Given the description of an element on the screen output the (x, y) to click on. 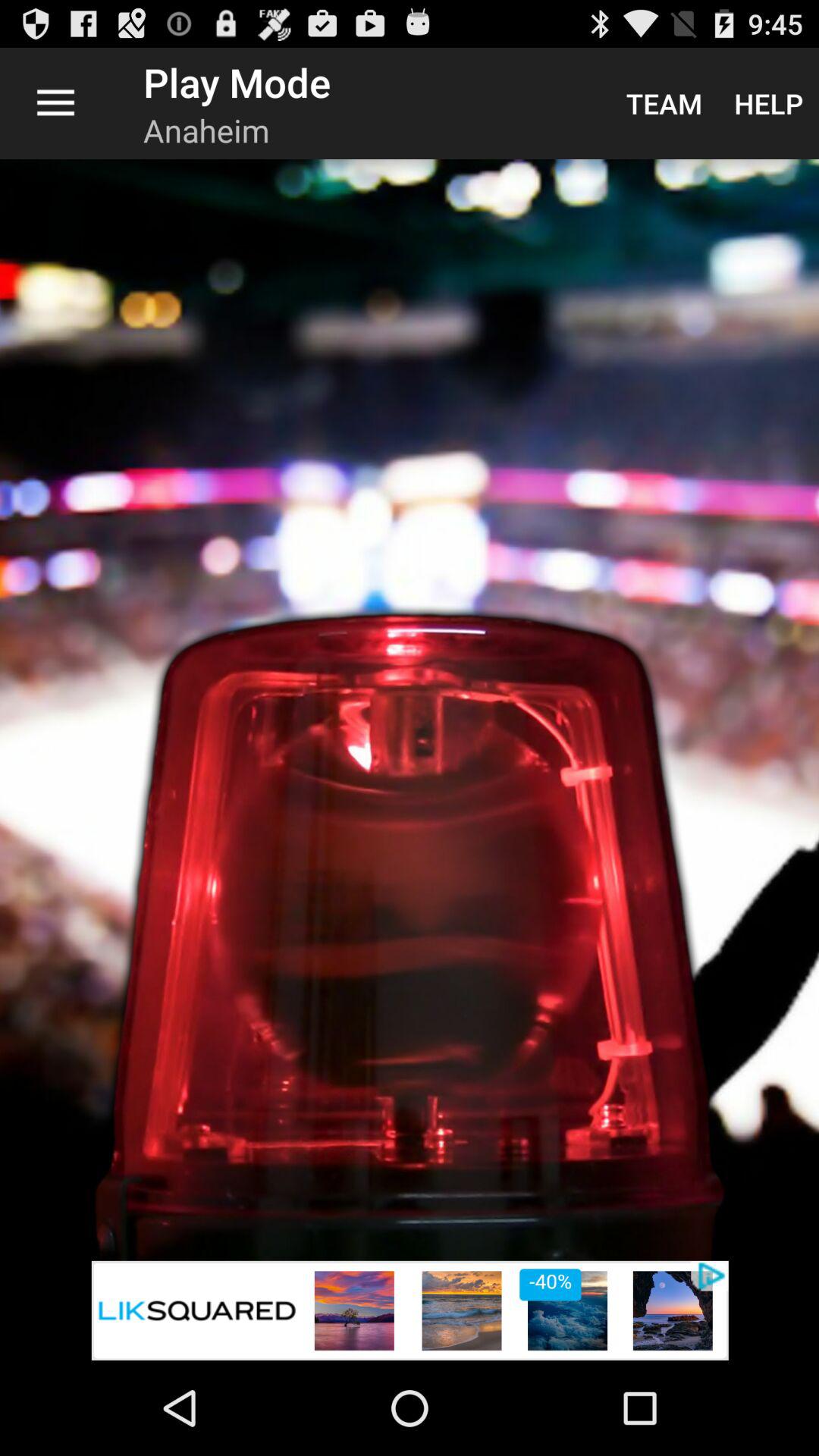
open team item (664, 103)
